Given the description of an element on the screen output the (x, y) to click on. 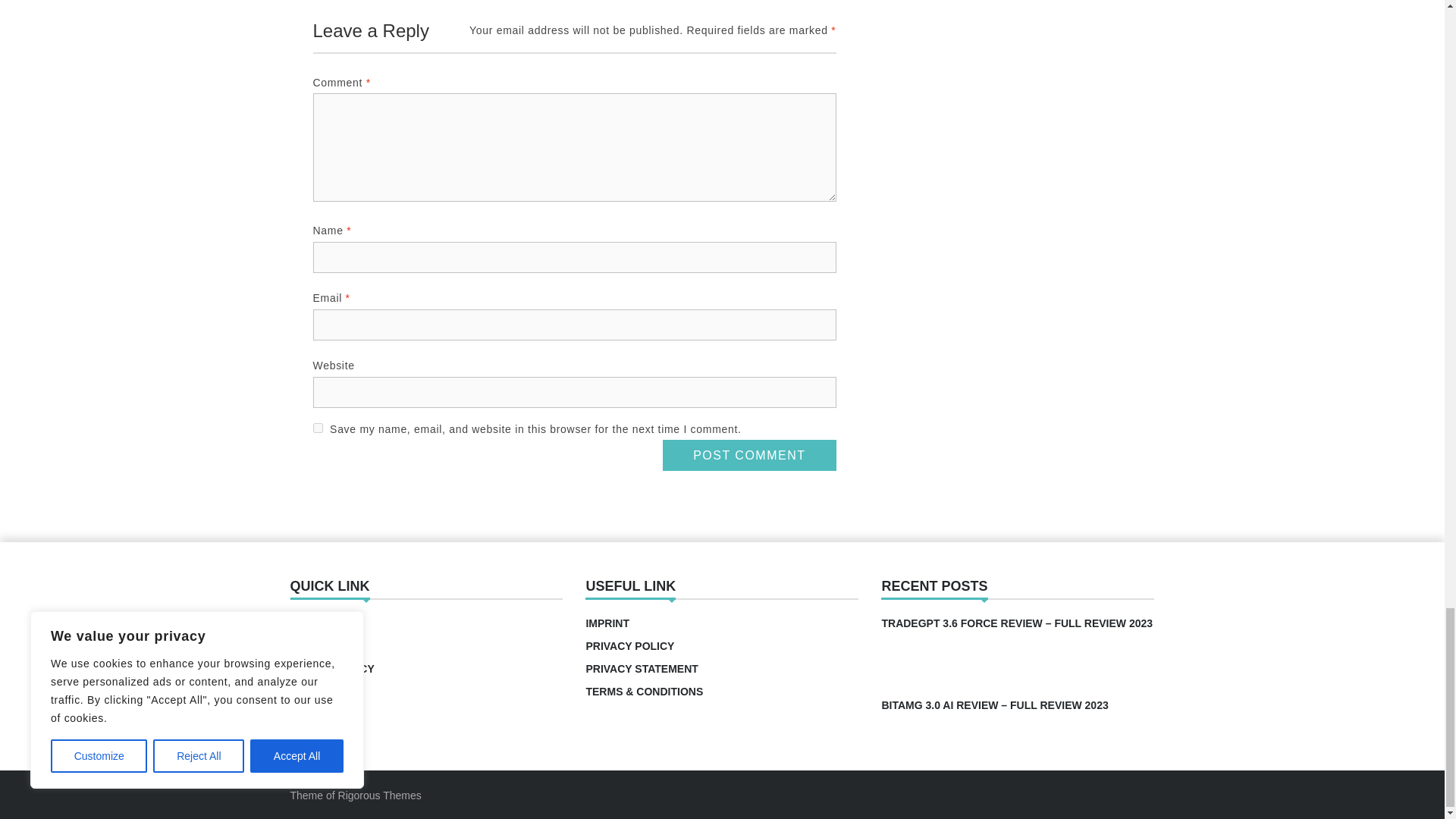
Post Comment (748, 454)
yes (317, 428)
Post Comment (748, 454)
